Given the description of an element on the screen output the (x, y) to click on. 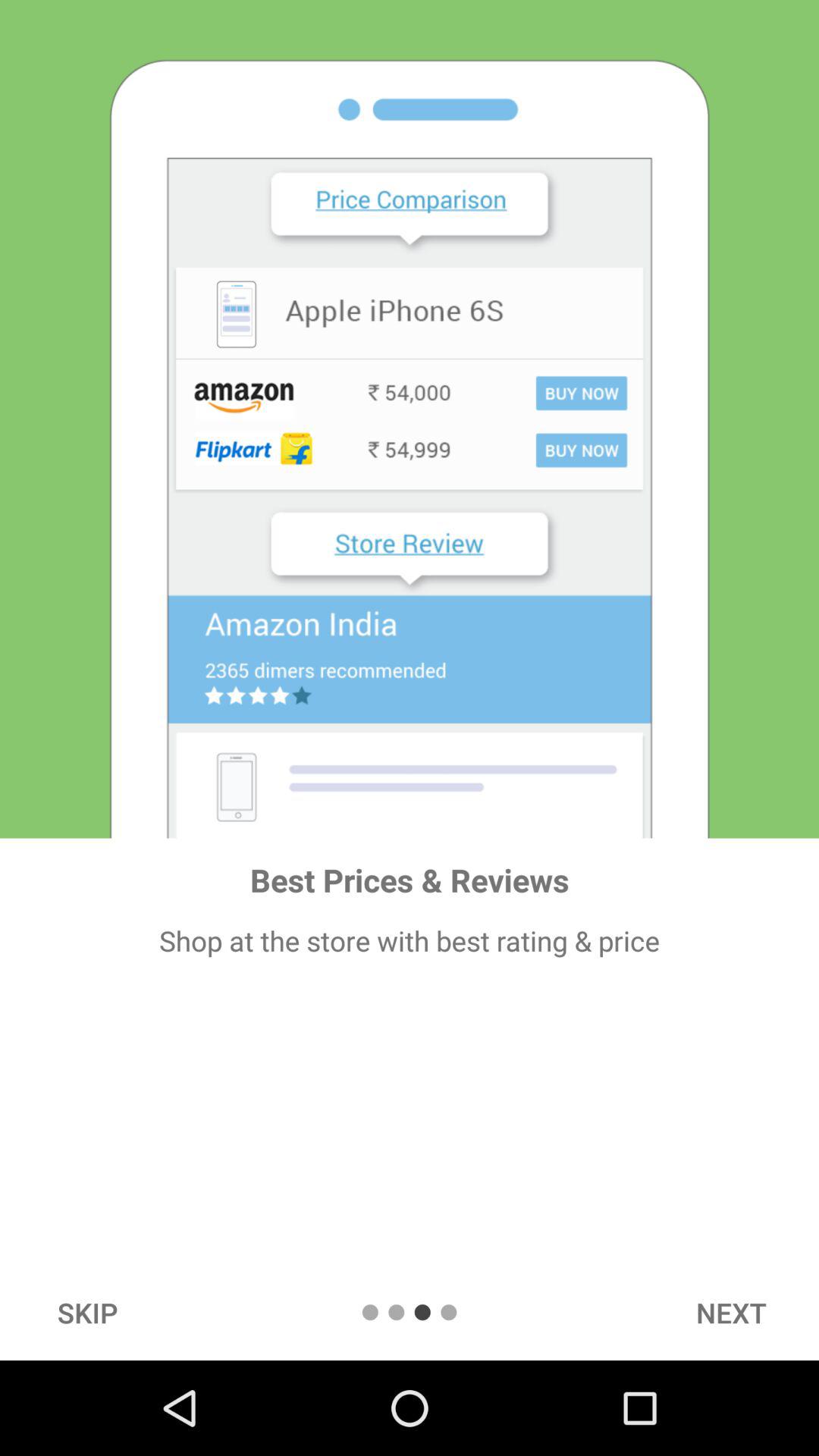
click the icon below the shop at the icon (87, 1312)
